Given the description of an element on the screen output the (x, y) to click on. 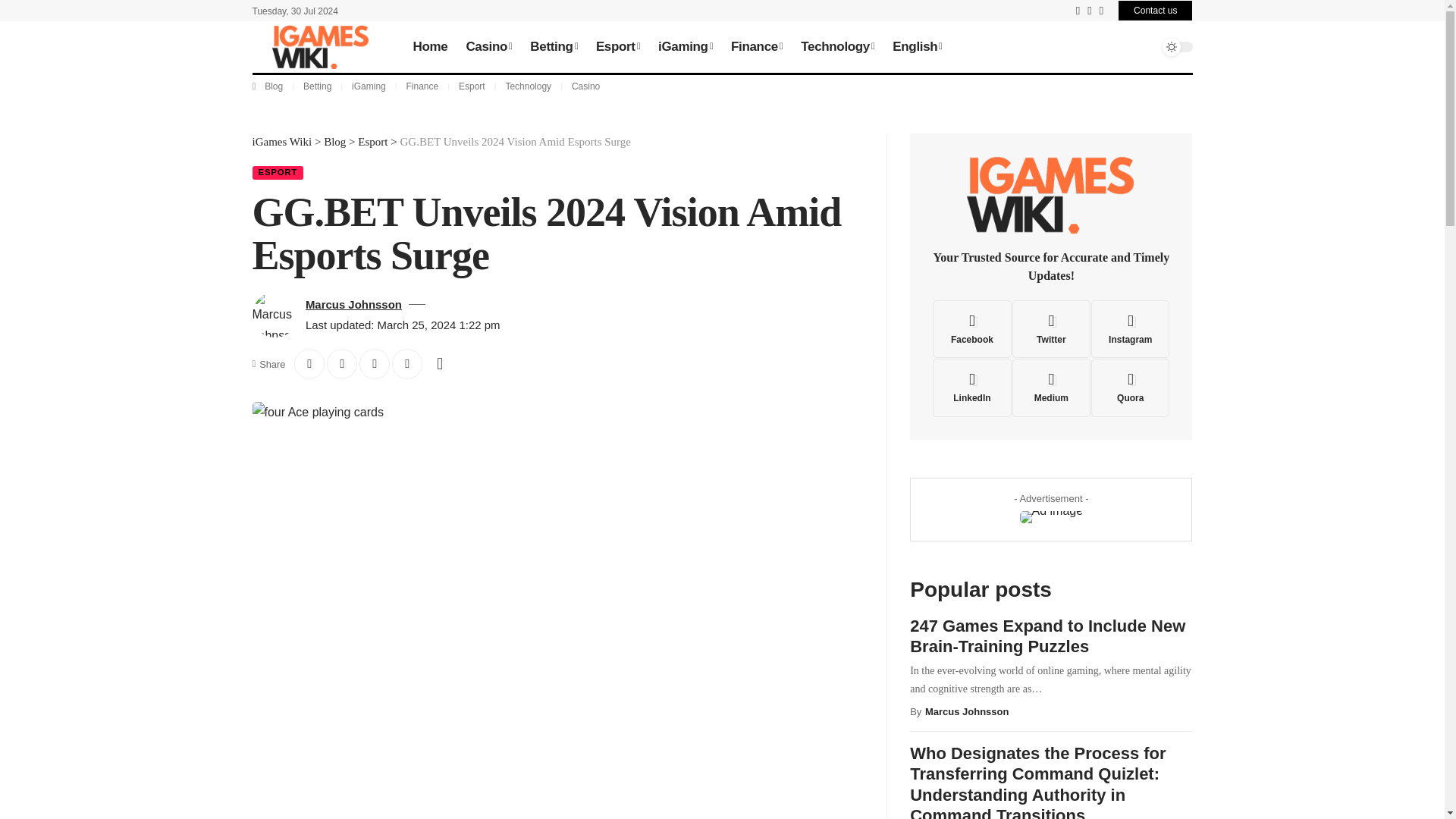
Betting (553, 46)
Casino (489, 46)
Contact us (1155, 10)
Home (430, 46)
